Given the description of an element on the screen output the (x, y) to click on. 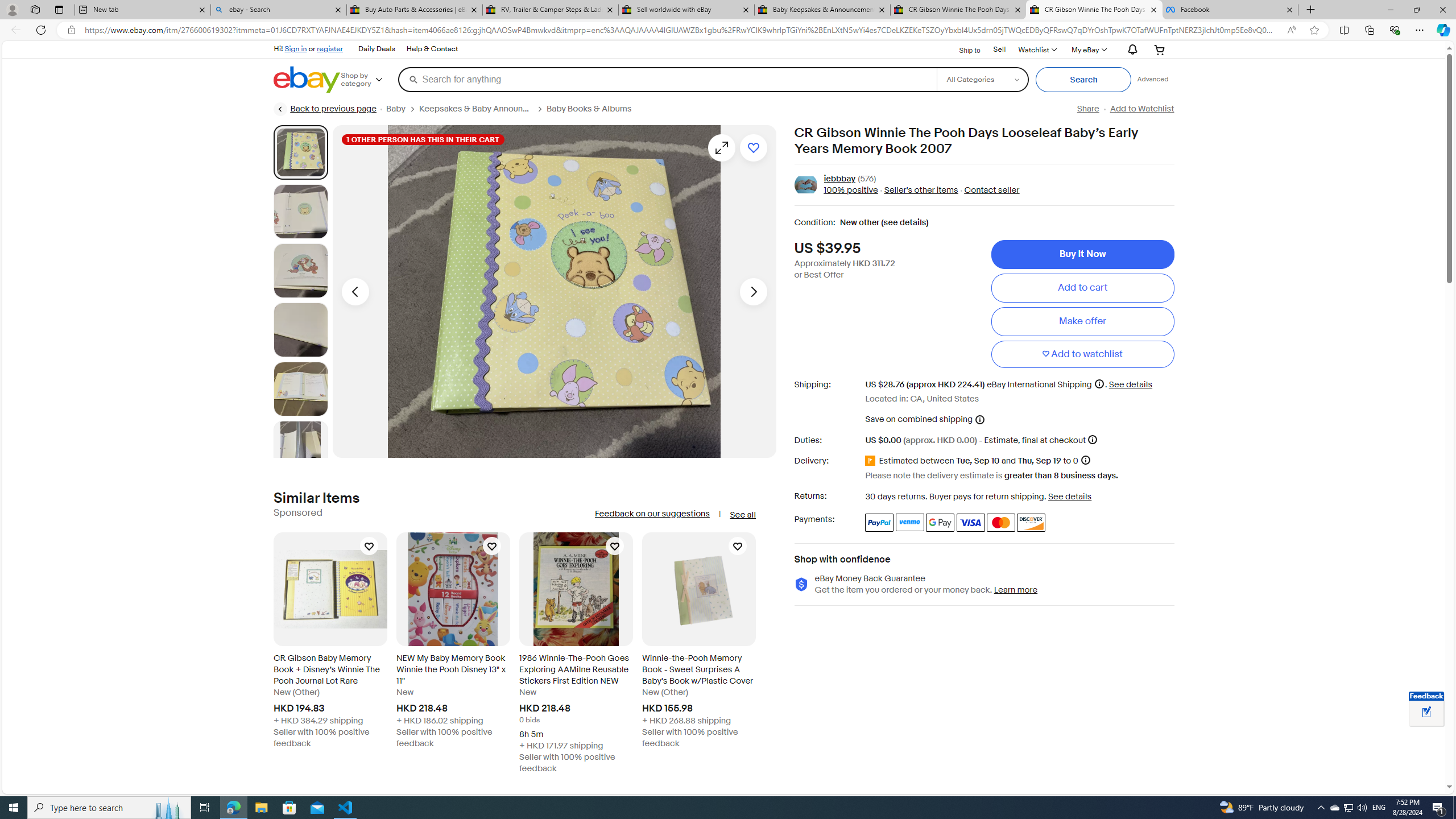
Next image - Item images thumbnails (753, 291)
Picture 3 of 22 (300, 270)
Buy It Now (1082, 253)
Add to Watchlist (1141, 108)
Make offer (1082, 320)
More information (1092, 439)
Buy It Now (1082, 253)
Picture 1 of 22 (300, 152)
My eBayExpand My eBay (1088, 49)
Advanced Search (1152, 78)
